Given the description of an element on the screen output the (x, y) to click on. 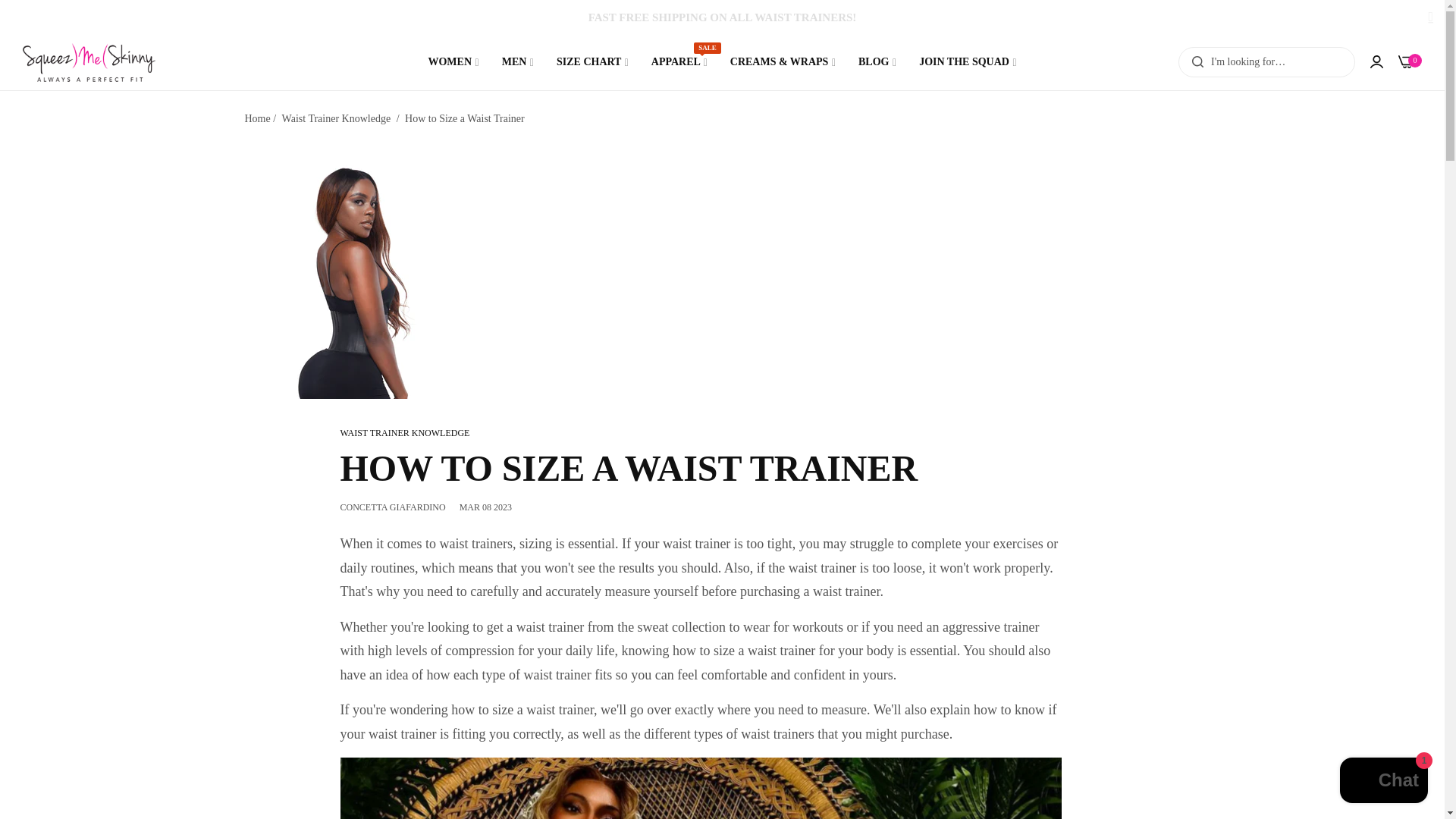
SIZE CHART (592, 62)
SqueezMeSkinny (89, 62)
Home (679, 62)
BLOG (256, 118)
MEN (877, 62)
WOMEN (517, 62)
0 (452, 62)
Shopify online store chat (1405, 61)
JOIN THE SQUAD (1383, 781)
